Given the description of an element on the screen output the (x, y) to click on. 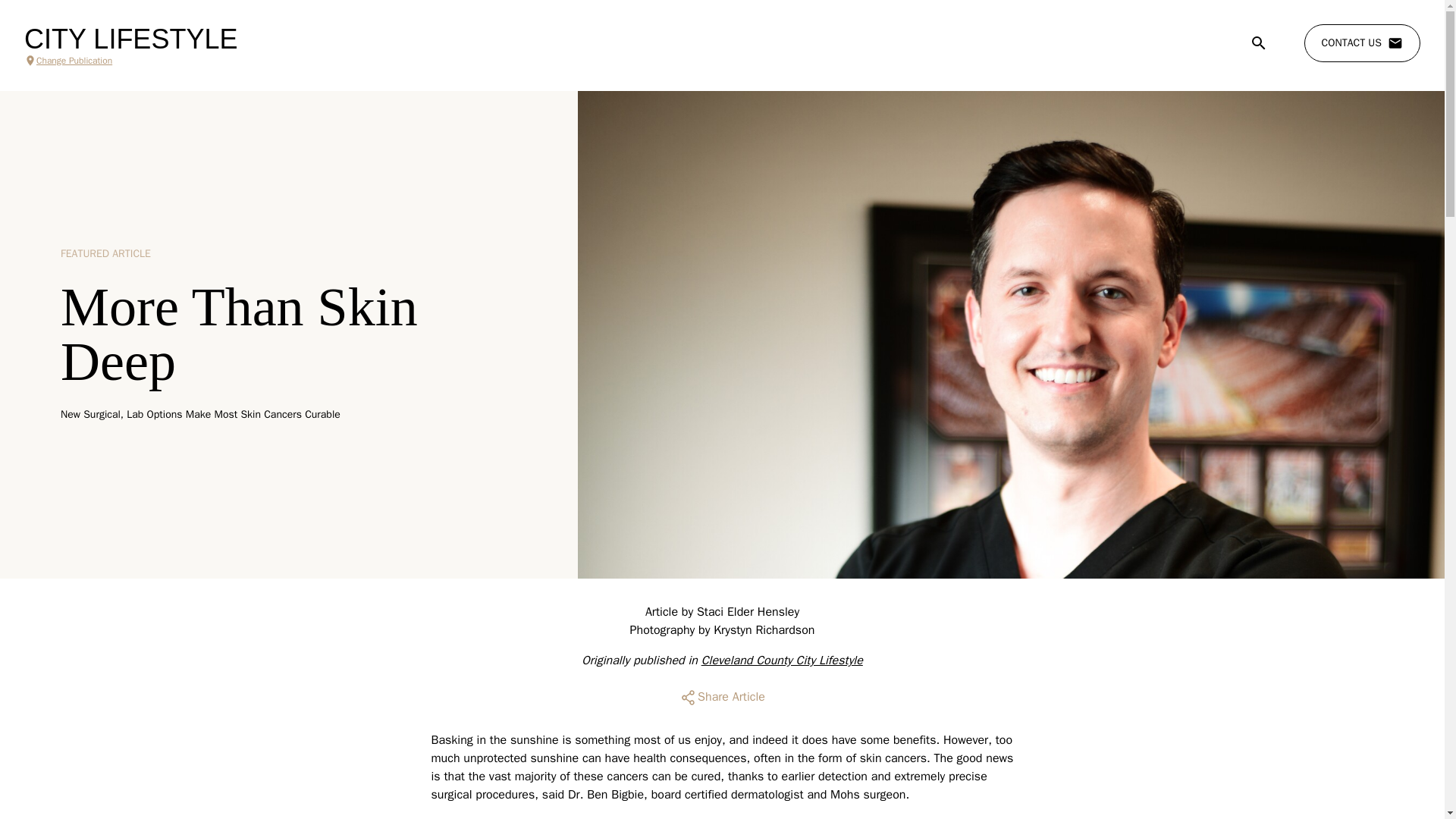
CITY LIFESTYLE (130, 39)
Share Article (722, 696)
CONTACT US (1362, 43)
Cleveland County City Lifestyle (782, 660)
Change Publication (130, 60)
